Given the description of an element on the screen output the (x, y) to click on. 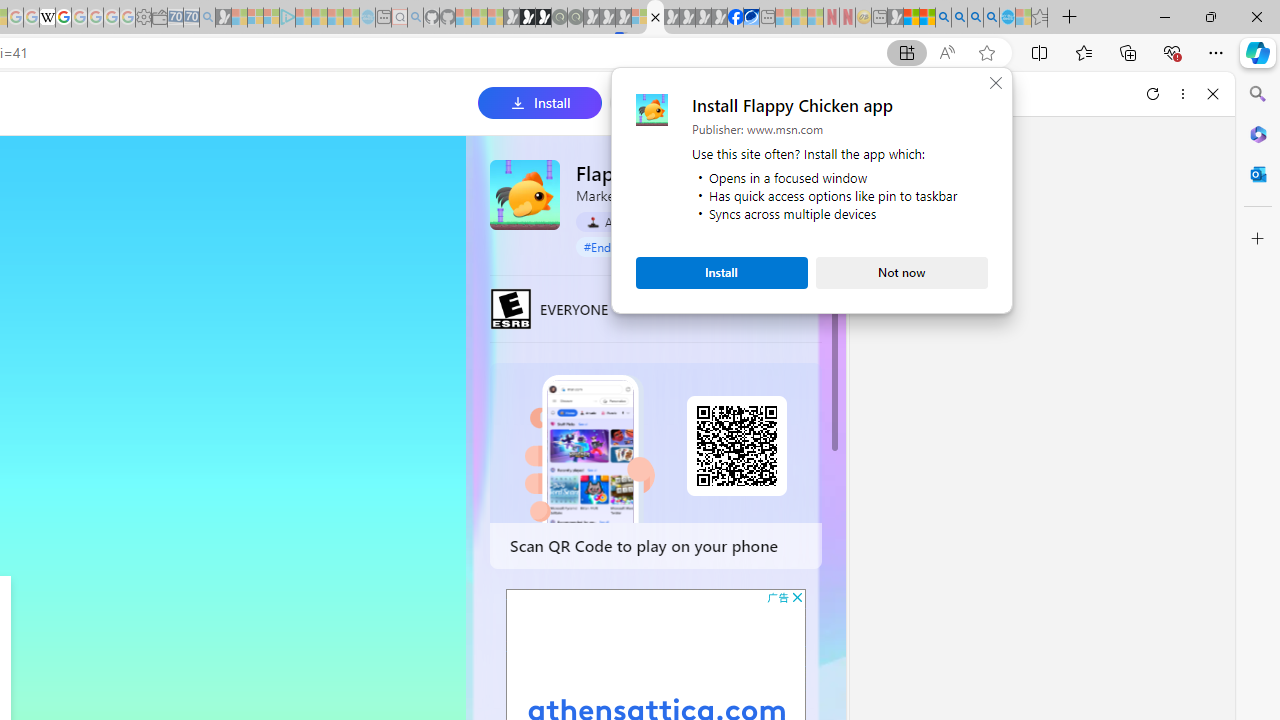
EVERYONE (511, 308)
